Given the description of an element on the screen output the (x, y) to click on. 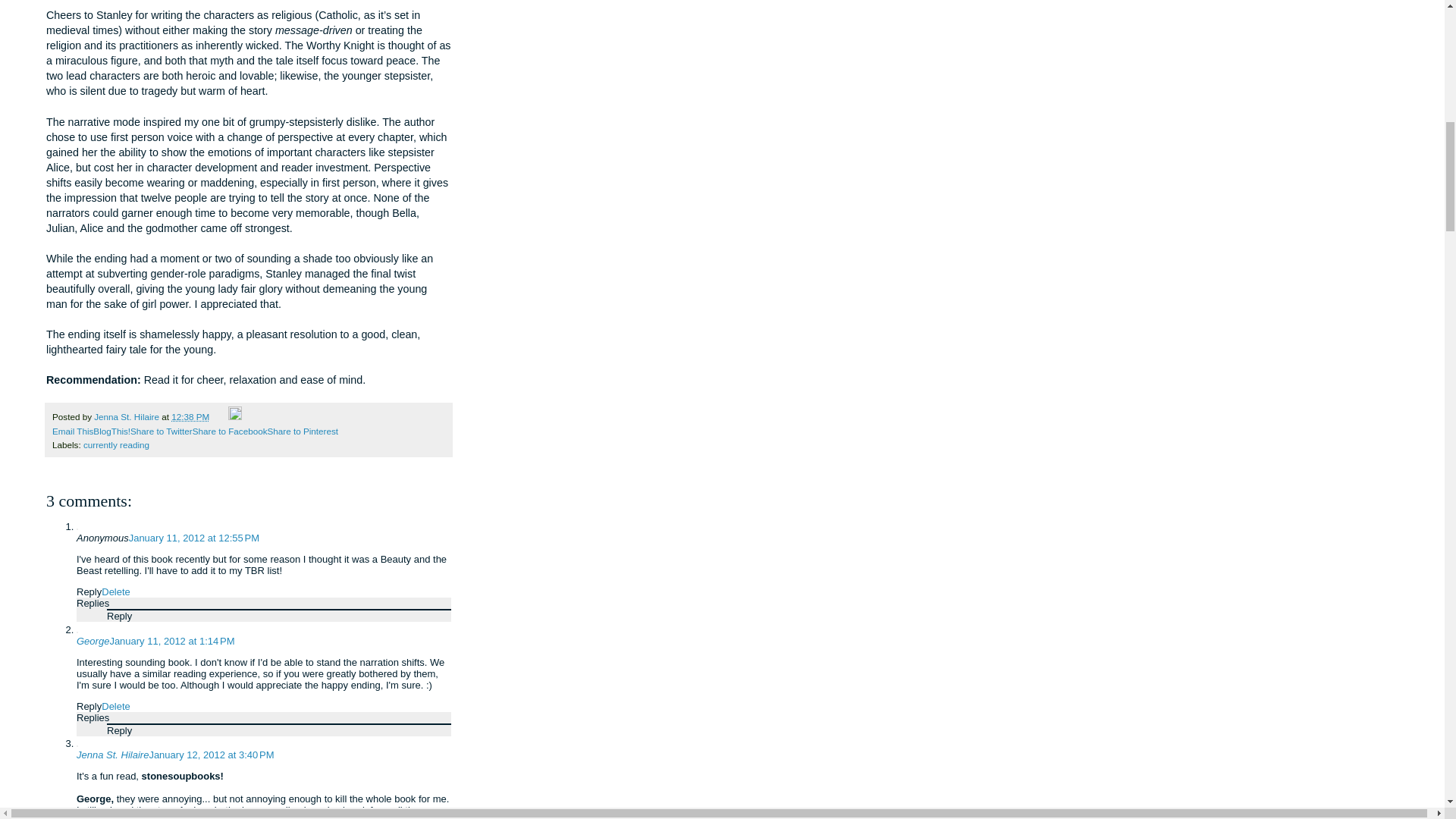
Reply (119, 730)
Share to Twitter (161, 430)
Share to Pinterest (301, 430)
Delete (116, 591)
Share to Pinterest (301, 430)
Email This (72, 430)
Share to Facebook (229, 430)
Replies (93, 603)
George (93, 641)
Reply (89, 706)
Replies (93, 717)
Delete (116, 706)
Email This (72, 430)
BlogThis! (112, 430)
